Given the description of an element on the screen output the (x, y) to click on. 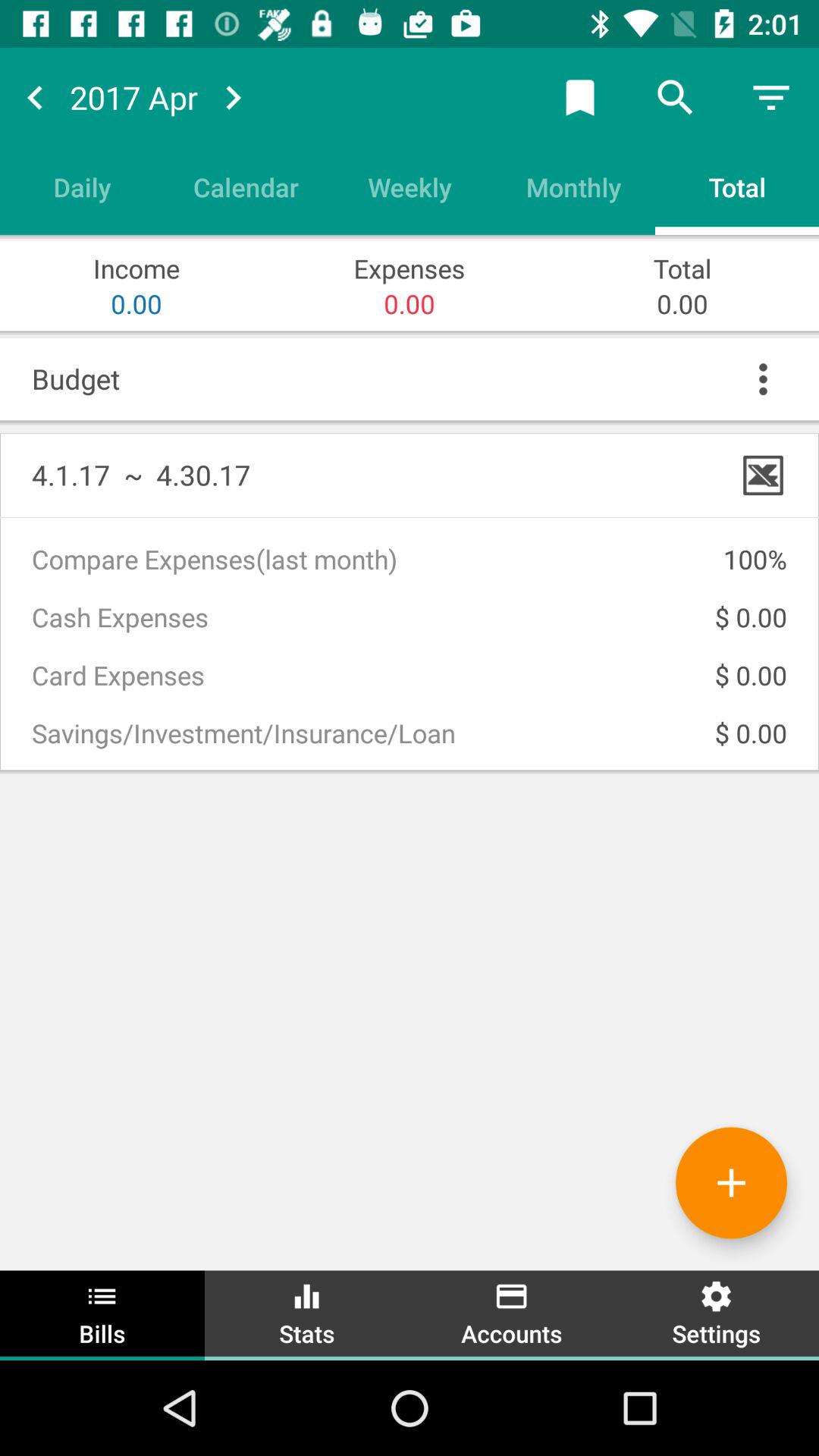
click the icon next to daily icon (245, 186)
